Given the description of an element on the screen output the (x, y) to click on. 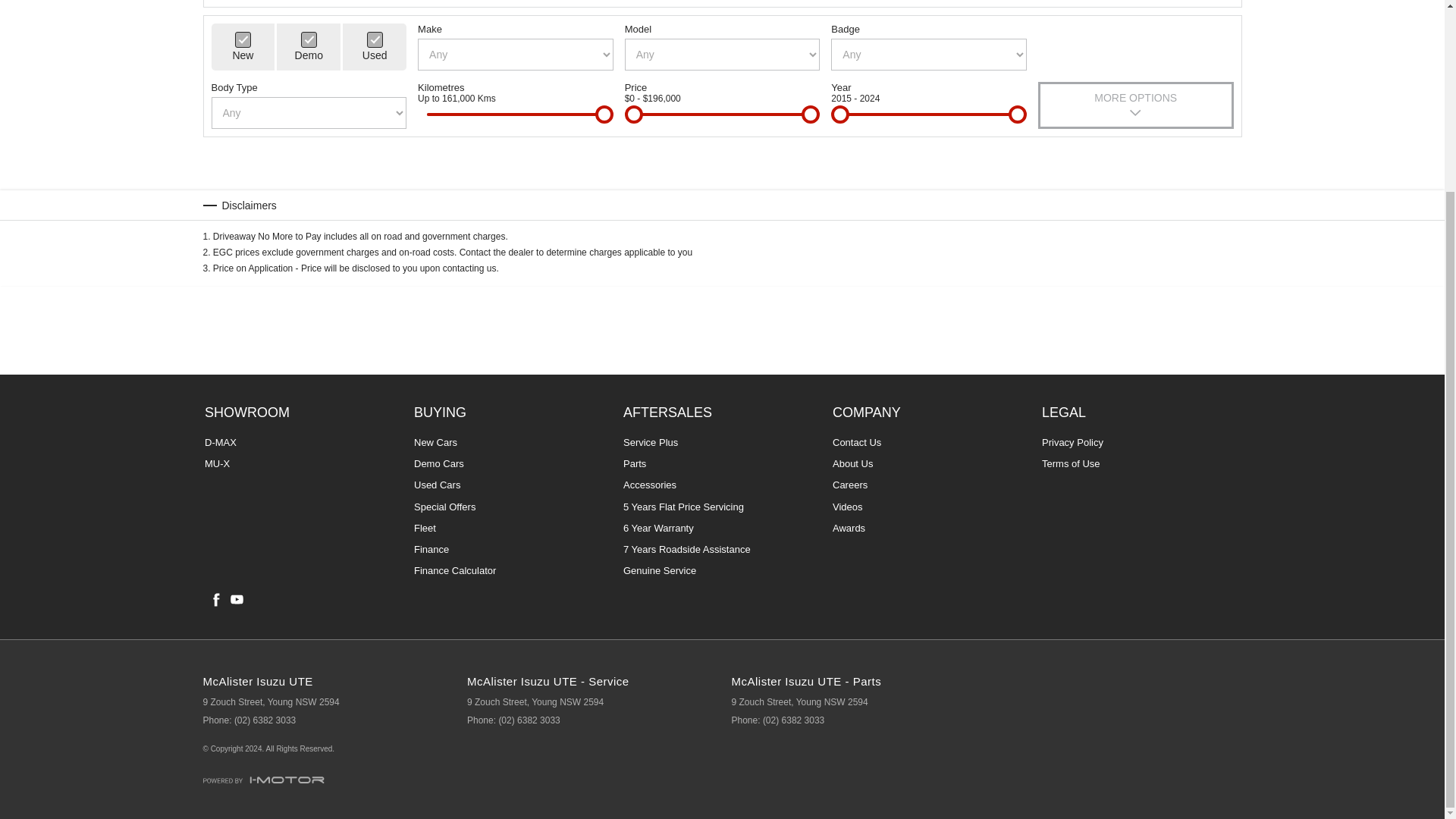
Demo (309, 39)
New (242, 39)
Used (374, 39)
